Given the description of an element on the screen output the (x, y) to click on. 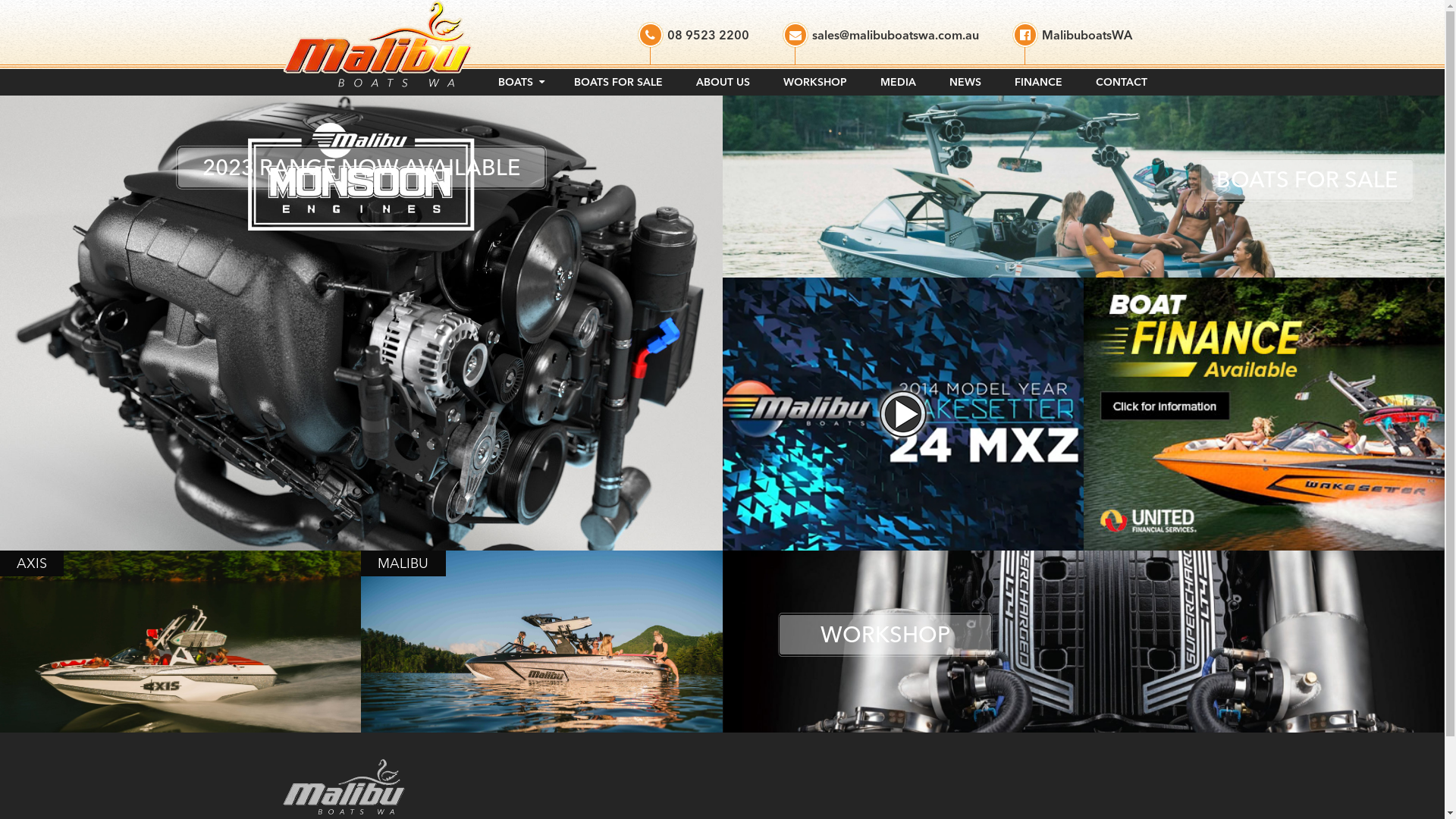
MalibuboatsWA Element type: text (1071, 42)
CONTACT Element type: text (1120, 79)
SKIP TO CONTENT Element type: text (497, 66)
MEDIA Element type: text (897, 79)
ABOUT US Element type: text (722, 79)
NEWS Element type: text (965, 79)
FINANCE Element type: text (1038, 79)
WORKSHOP Element type: text (814, 79)
Play Video Element type: text (901, 413)
sales@malibuboatswa.com.au Element type: text (880, 42)
BOATS Element type: text (518, 79)
BOATS FOR SALE Element type: text (617, 79)
08 9523 2200 Element type: text (692, 42)
